Given the description of an element on the screen output the (x, y) to click on. 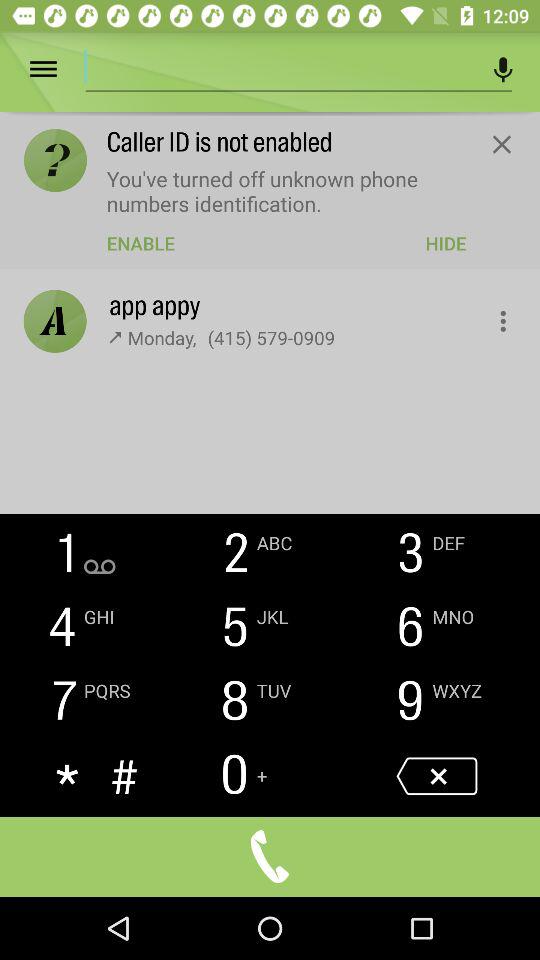
close the caller id notification (501, 144)
